Given the description of an element on the screen output the (x, y) to click on. 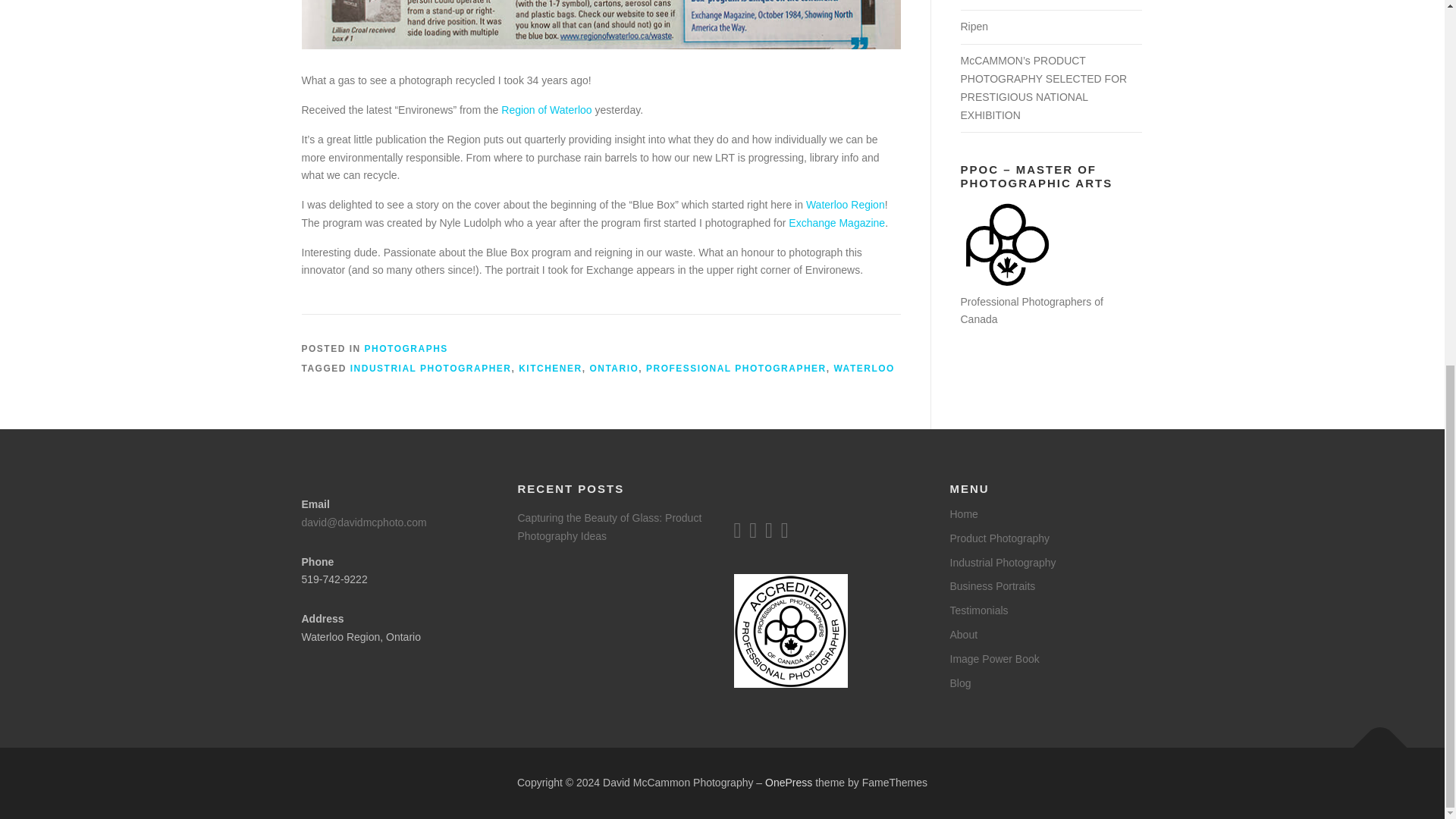
Capturing the Beauty of Glass: Product Photography Ideas (608, 526)
PHOTOGRAPHS (406, 348)
Ripen (973, 26)
INDUSTRIAL PHOTOGRAPHER (431, 368)
PROFESSIONAL PHOTOGRAPHER (736, 368)
KITCHENER (550, 368)
ONTARIO (614, 368)
Back To Top (1372, 740)
Region of Waterloo (545, 110)
Exchange Magazine (837, 223)
